Given the description of an element on the screen output the (x, y) to click on. 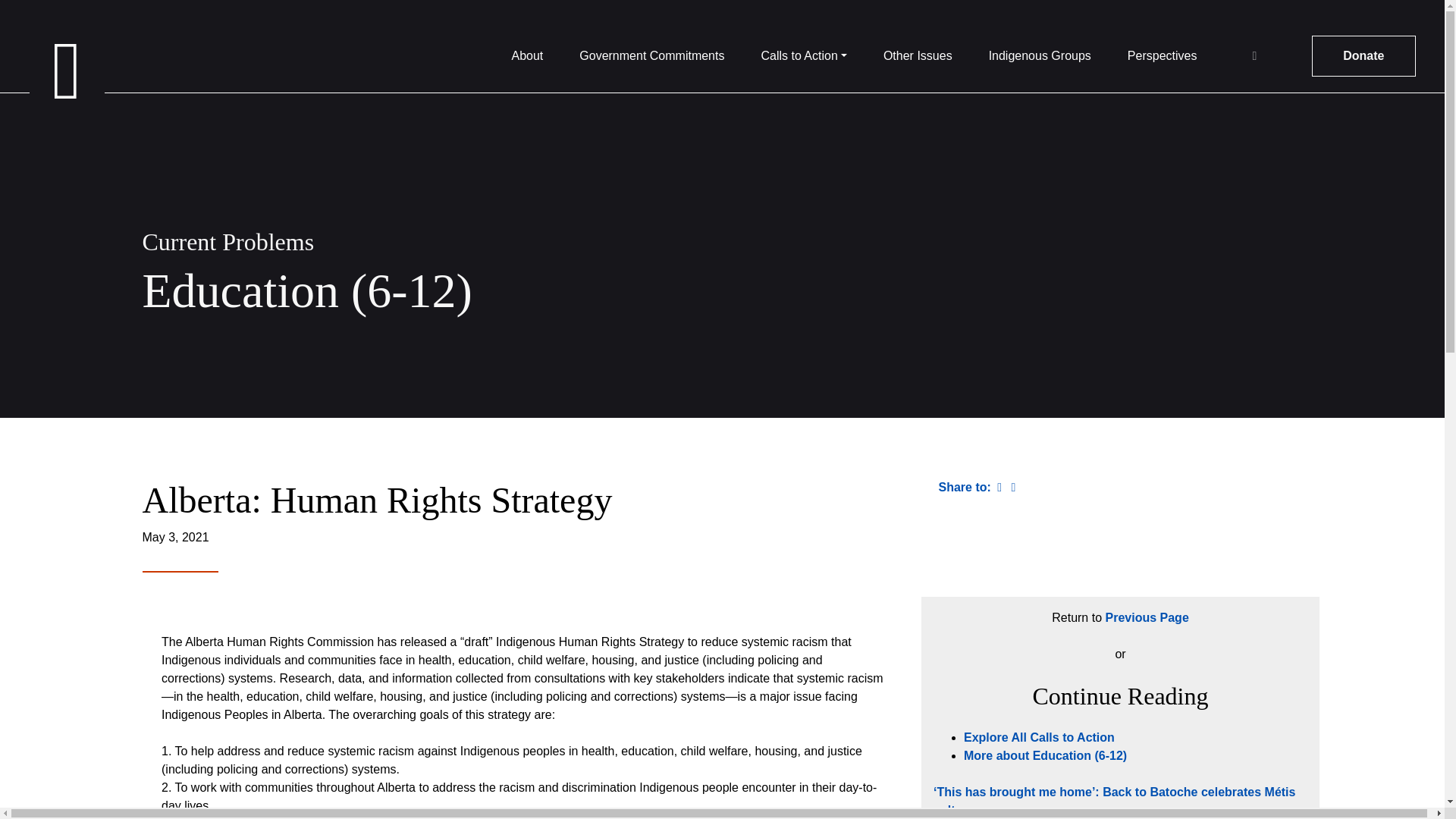
Perspectives (1161, 55)
Indigenous Watchdog (66, 71)
Calls to Action (802, 55)
Perspectives (1161, 55)
Donate (1363, 56)
Government Commitments (651, 55)
Calls to Action (802, 55)
Other Issues (917, 55)
Government Commitments (651, 55)
Previous Page (1147, 617)
Indigenous Groups (1039, 55)
Indigenous Groups (1039, 55)
Other Issues (917, 55)
Explore All Calls to Action (1039, 737)
